Given the description of an element on the screen output the (x, y) to click on. 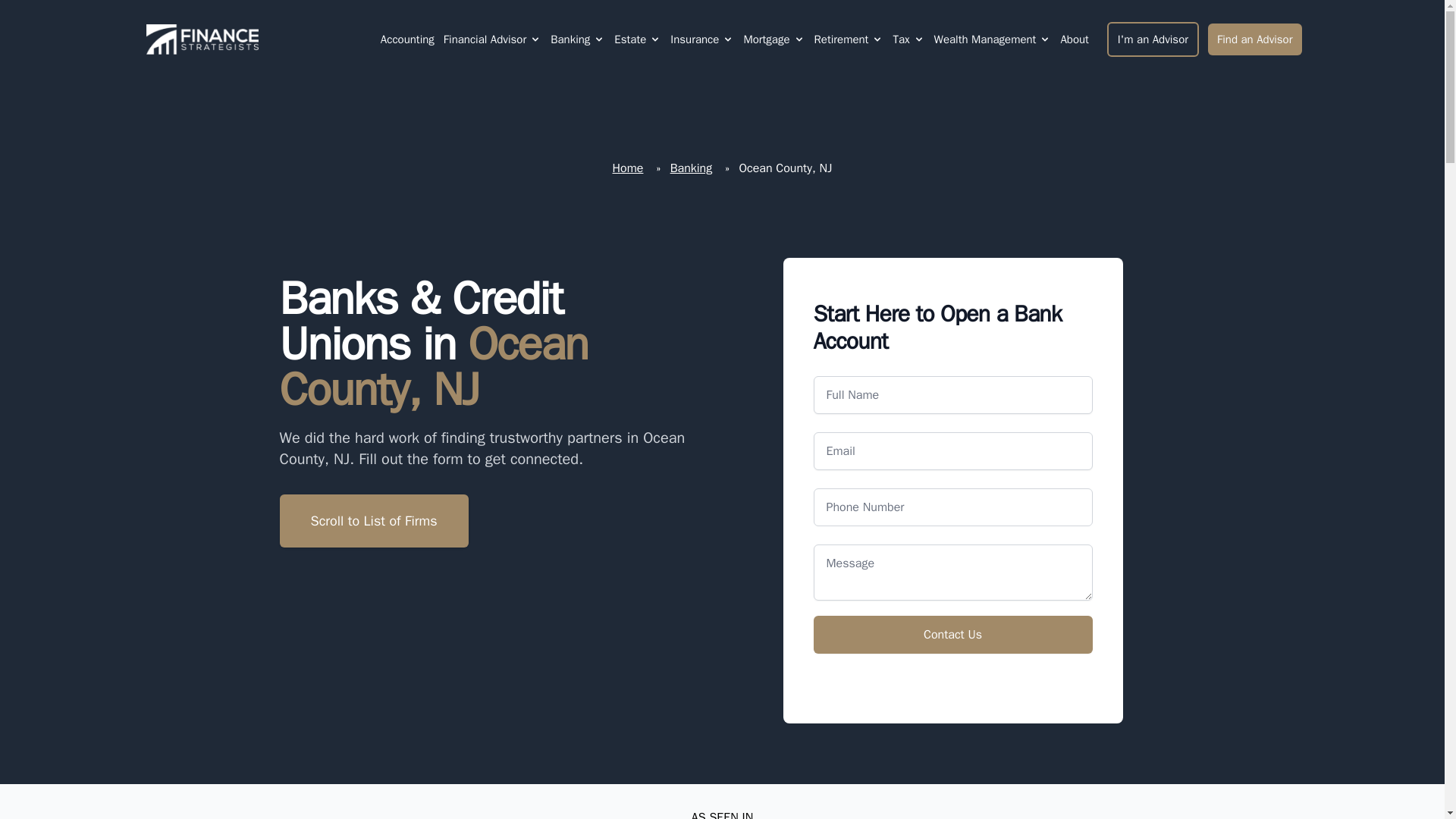
Banking (577, 39)
Banking (569, 39)
Finance Strategists (199, 39)
Accounting (407, 39)
Accounting (406, 39)
Financial Advisor (492, 39)
Financial Advisor (484, 39)
